Given the description of an element on the screen output the (x, y) to click on. 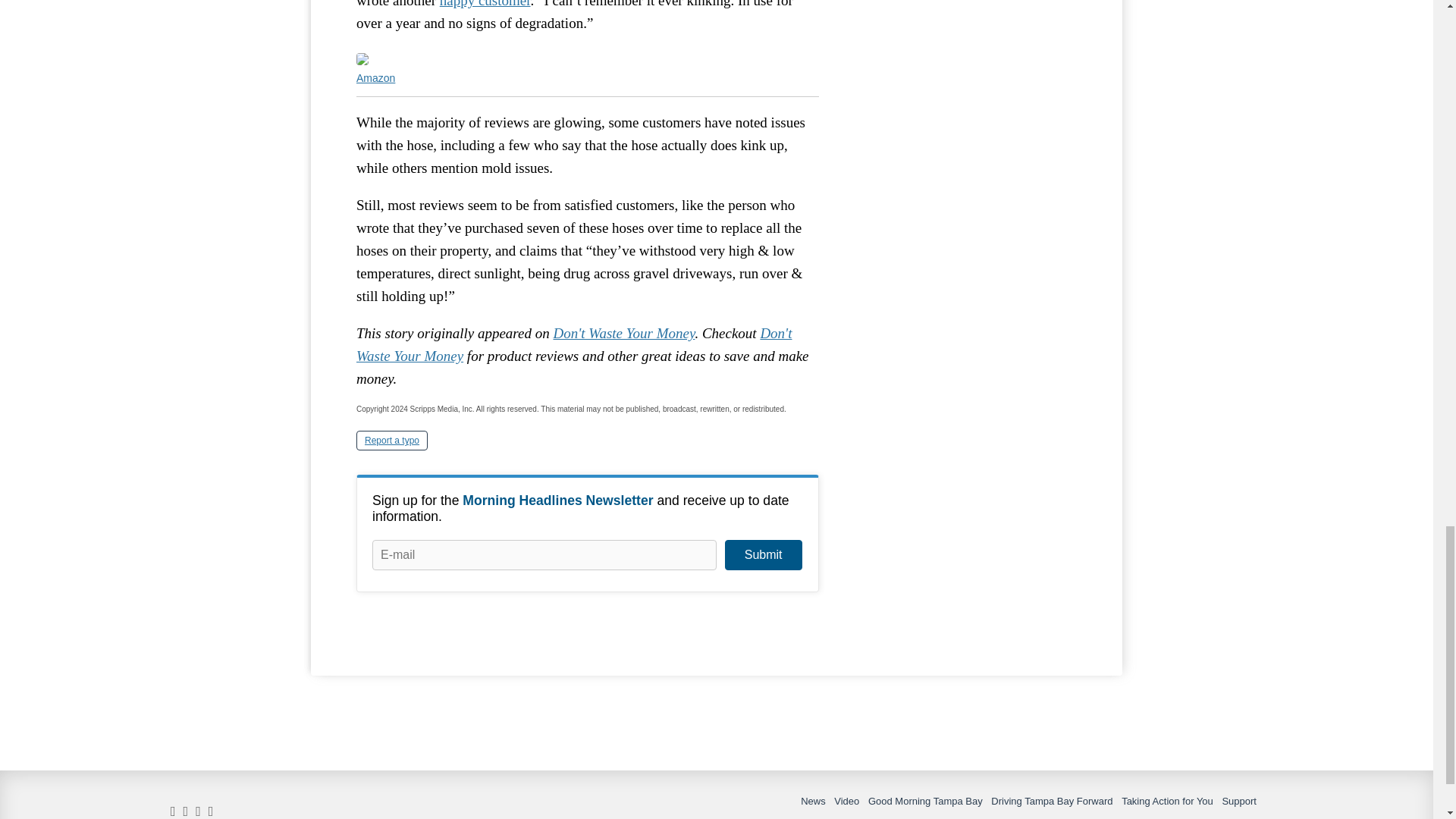
Submit (763, 554)
